Given the description of an element on the screen output the (x, y) to click on. 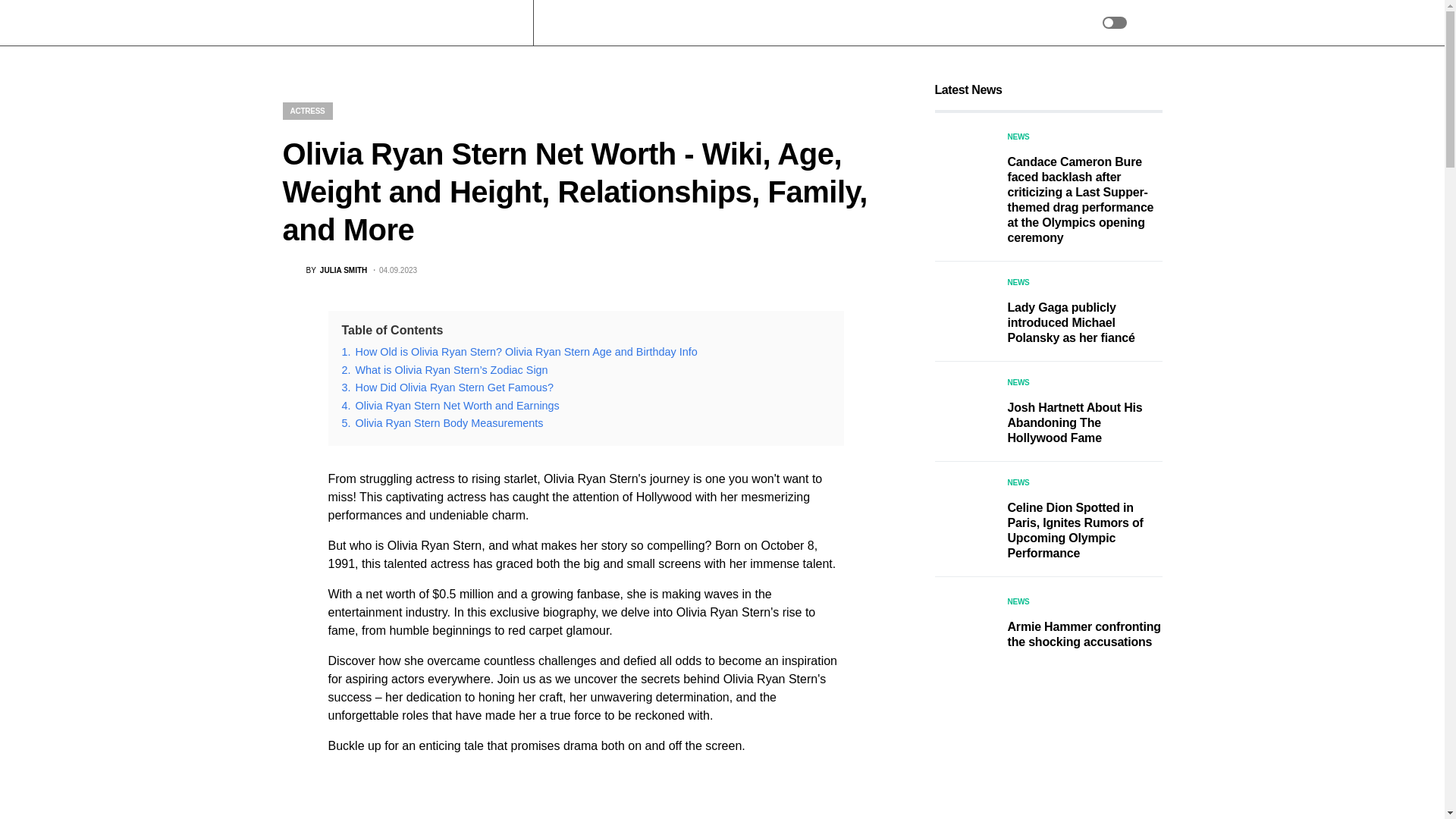
Richest Celebrities (595, 22)
By Profession (775, 22)
About LuxLux (859, 22)
View all posts by Julia Smith (324, 270)
Zodiac Signs (692, 22)
